Given the description of an element on the screen output the (x, y) to click on. 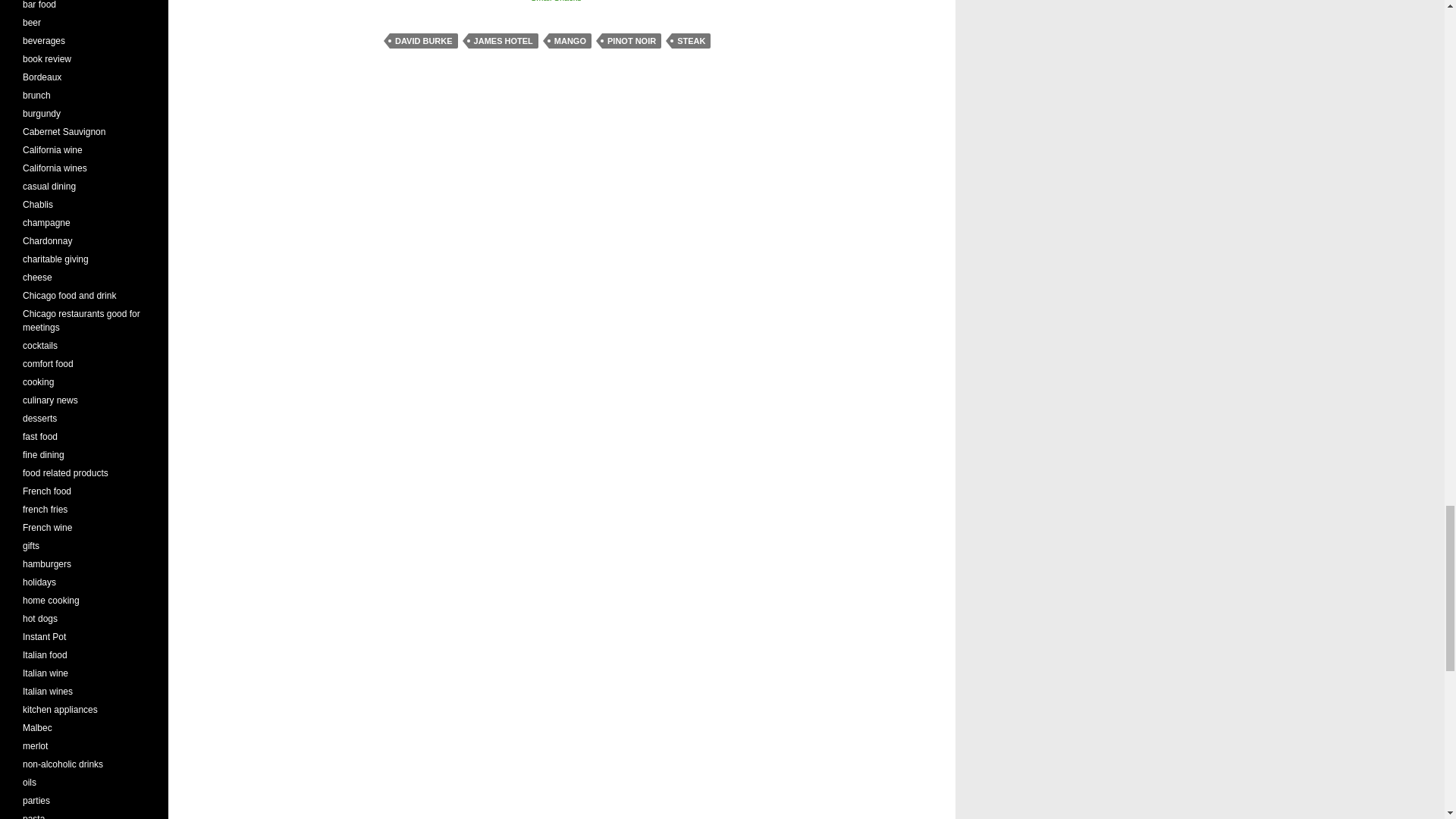
STEAK (690, 40)
DAVID BURKE (424, 40)
Top 10 steakhouses (415, 2)
MANGO (569, 40)
A Restaurant Week visit to Primehouse (488, 2)
PINOT NOIR (631, 40)
JAMES HOTEL (503, 40)
